Given the description of an element on the screen output the (x, y) to click on. 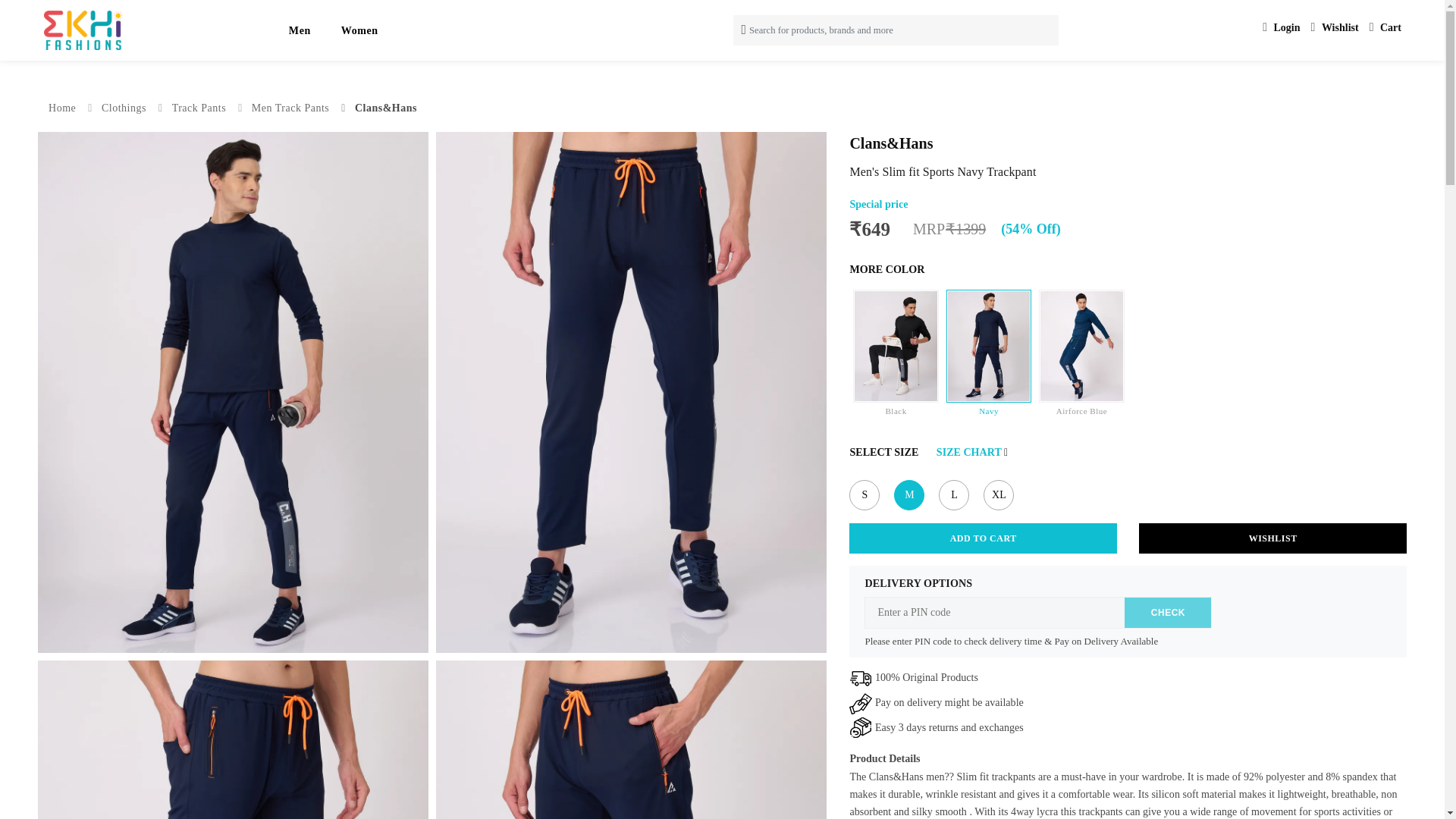
Clothings (124, 107)
Wishlist (1335, 27)
Women (359, 30)
Cart (1385, 27)
Track Pants (199, 107)
Login (1280, 27)
Home (61, 107)
